Given the description of an element on the screen output the (x, y) to click on. 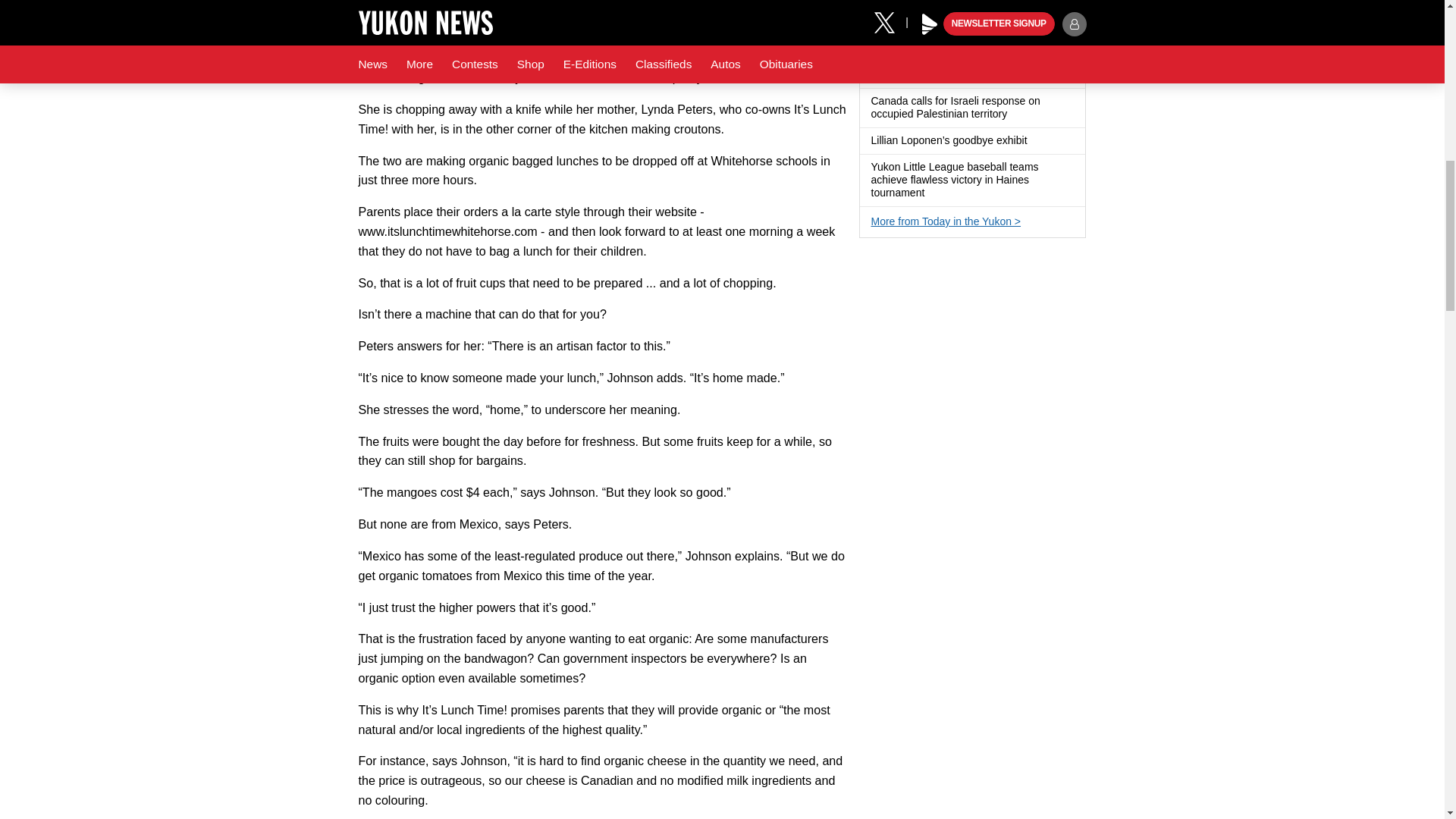
Has a gallery (1035, 141)
Has a gallery (933, 193)
